Given the description of an element on the screen output the (x, y) to click on. 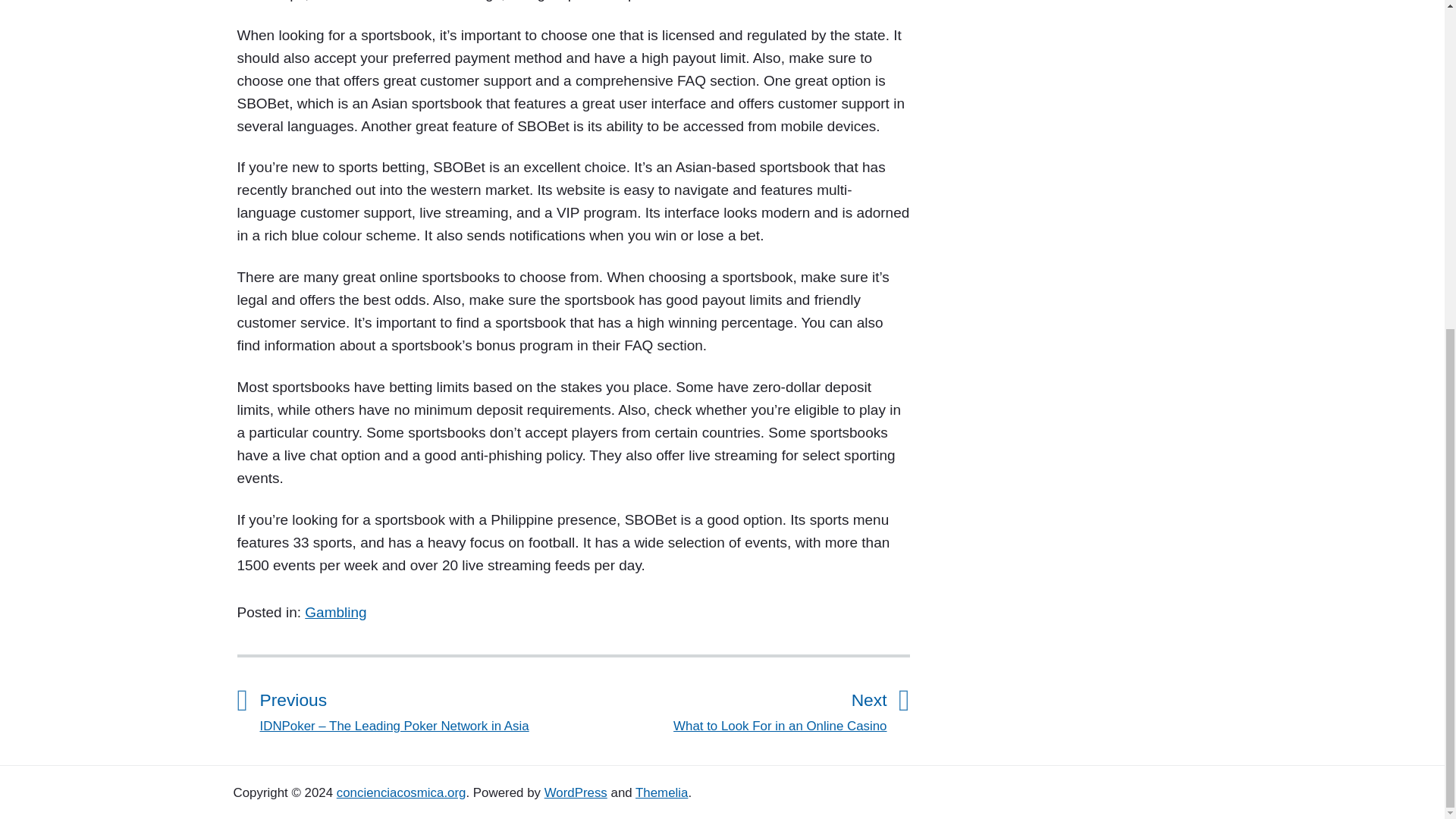
WordPress (575, 792)
Themelia (729, 708)
concienciacosmica.org (660, 792)
Gambling (400, 792)
